Given the description of an element on the screen output the (x, y) to click on. 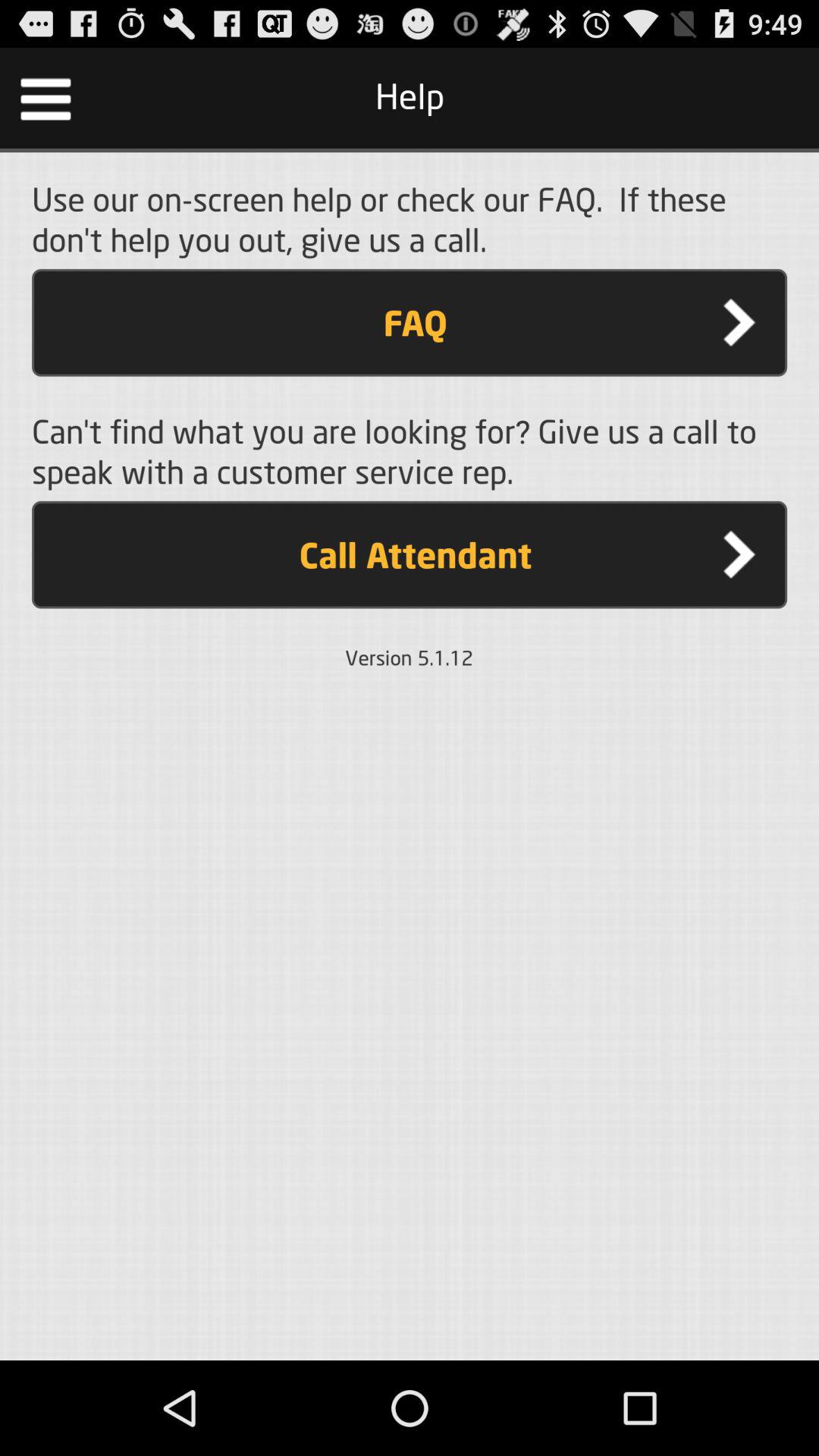
tap icon below can t find (409, 554)
